Given the description of an element on the screen output the (x, y) to click on. 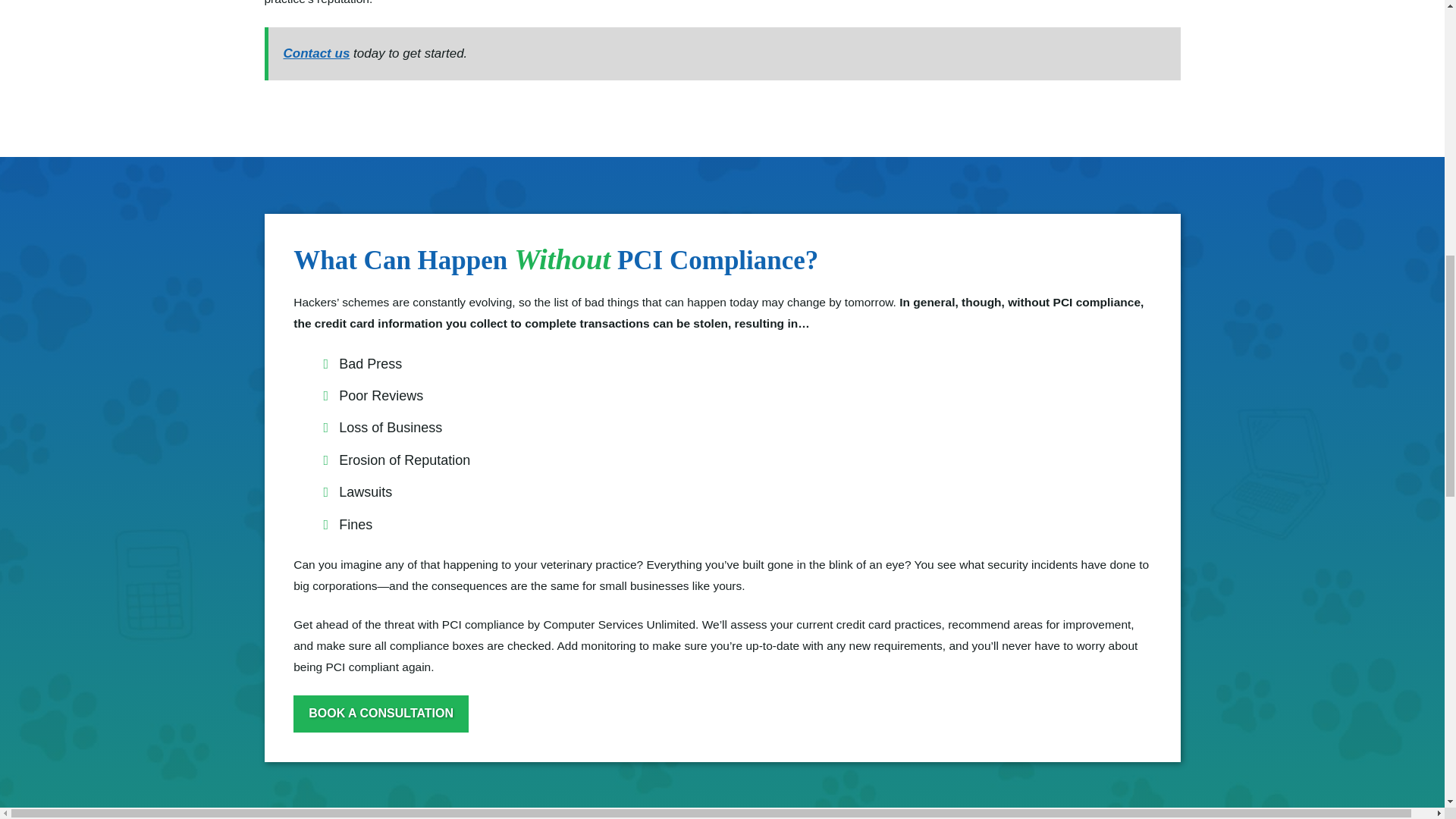
Scroll back to top (1406, 708)
BOOK A CONSULTATION (381, 713)
Contact us (316, 52)
